Given the description of an element on the screen output the (x, y) to click on. 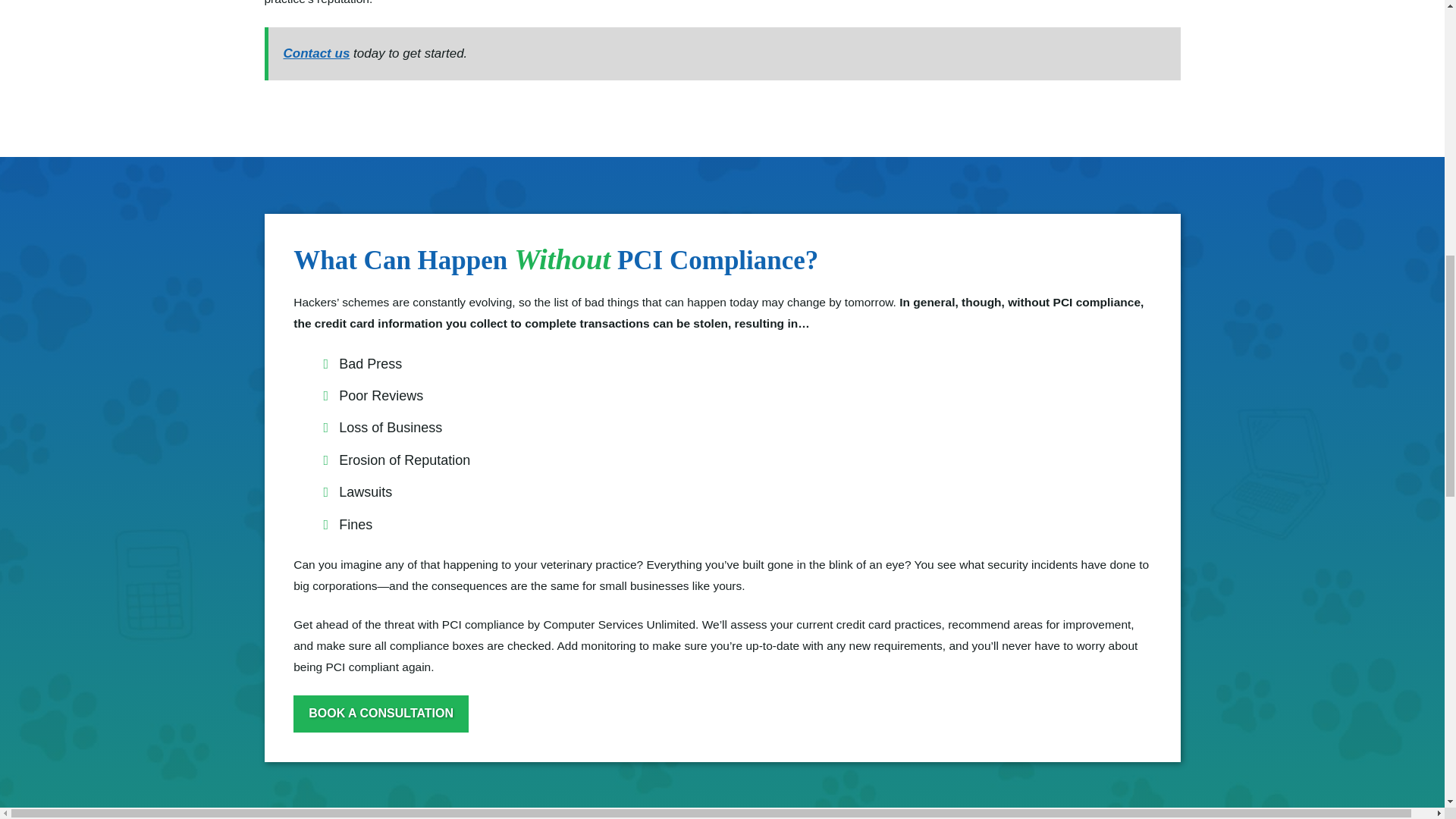
Scroll back to top (1406, 708)
BOOK A CONSULTATION (381, 713)
Contact us (316, 52)
